Given the description of an element on the screen output the (x, y) to click on. 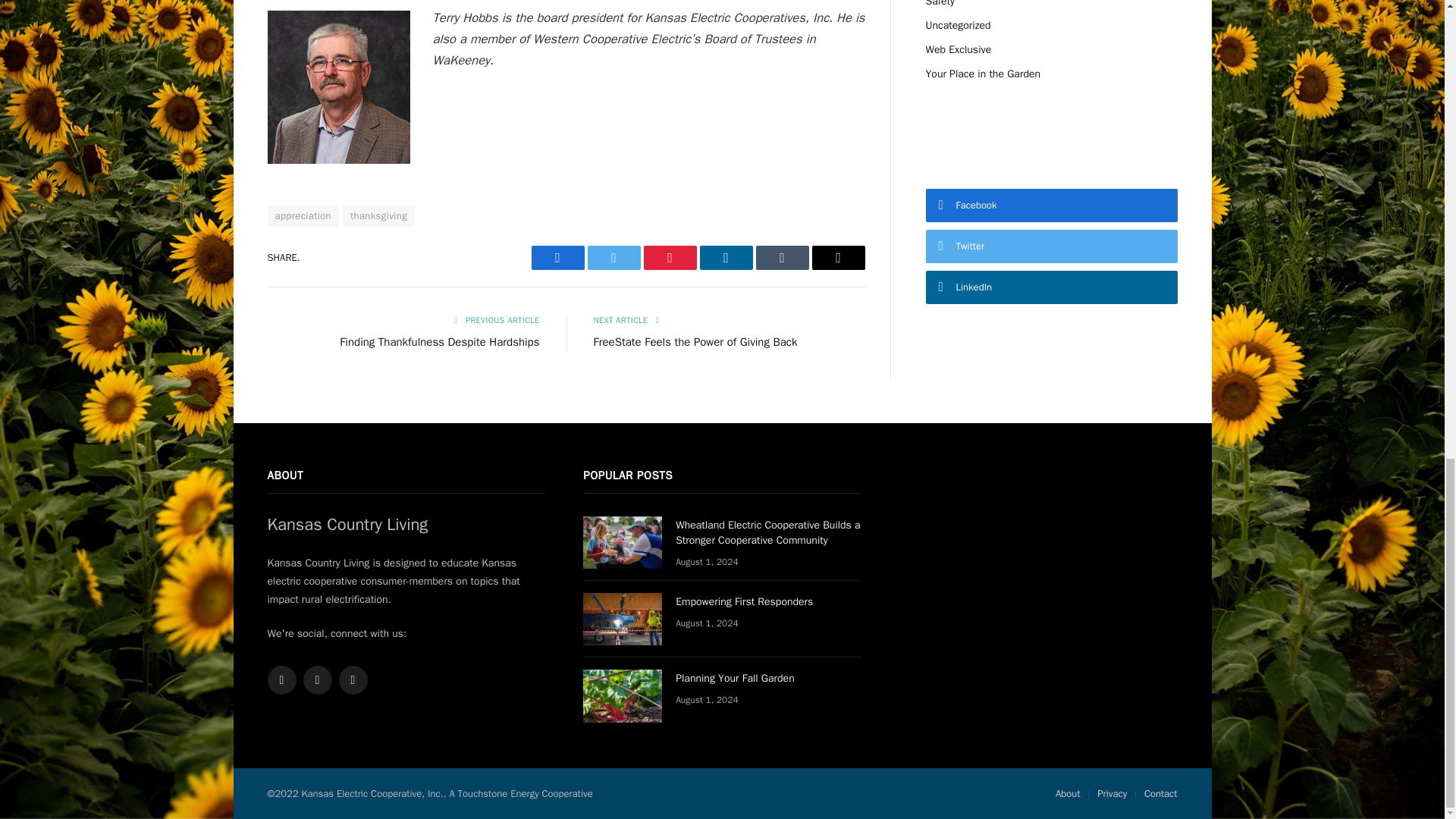
Share on Pinterest (669, 257)
Share on LinkedIn (725, 257)
Share on Facebook (557, 257)
